Given the description of an element on the screen output the (x, y) to click on. 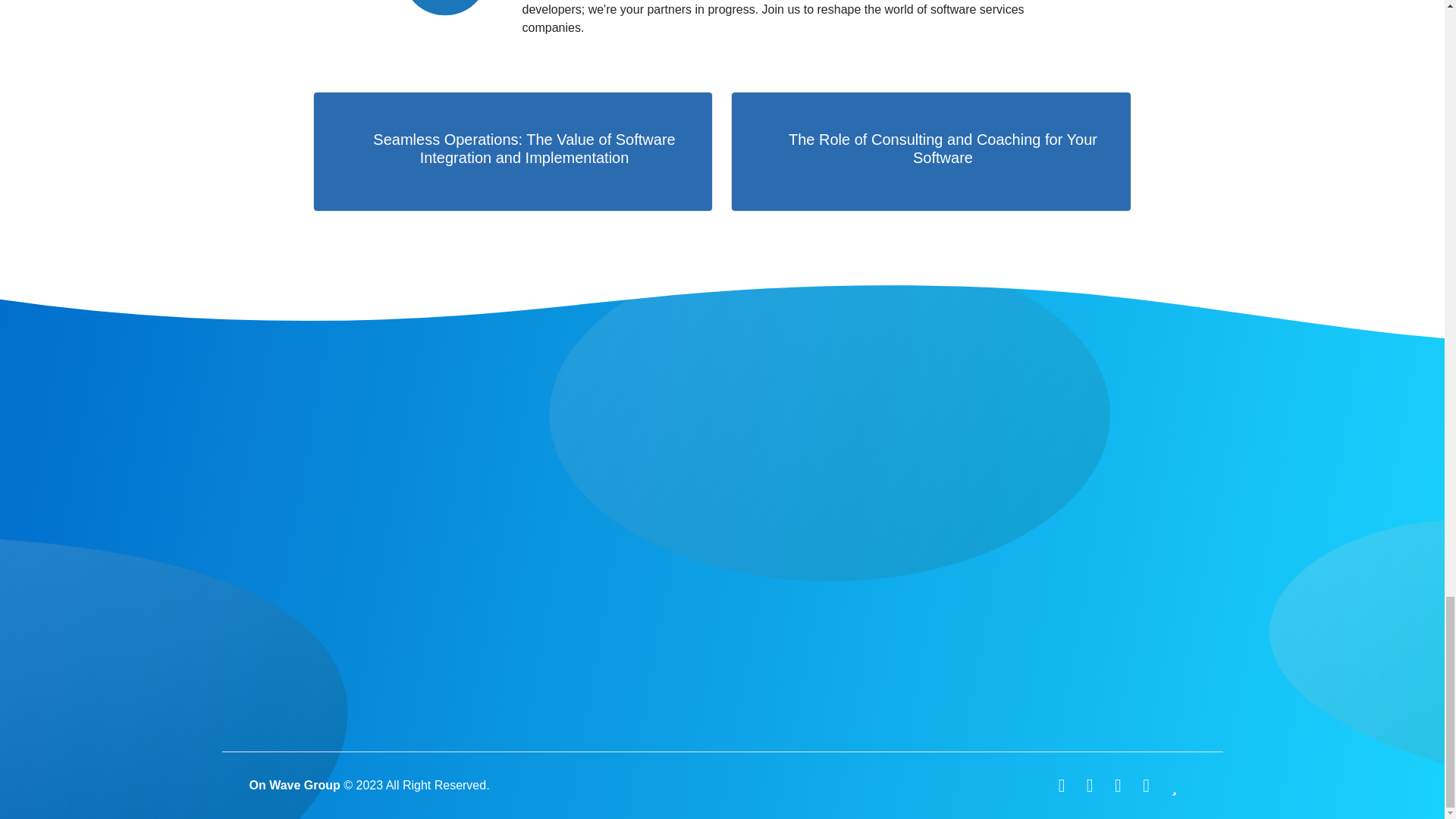
On Wave Group (293, 784)
The Role of Consulting and Coaching for Your Software (930, 151)
